Given the description of an element on the screen output the (x, y) to click on. 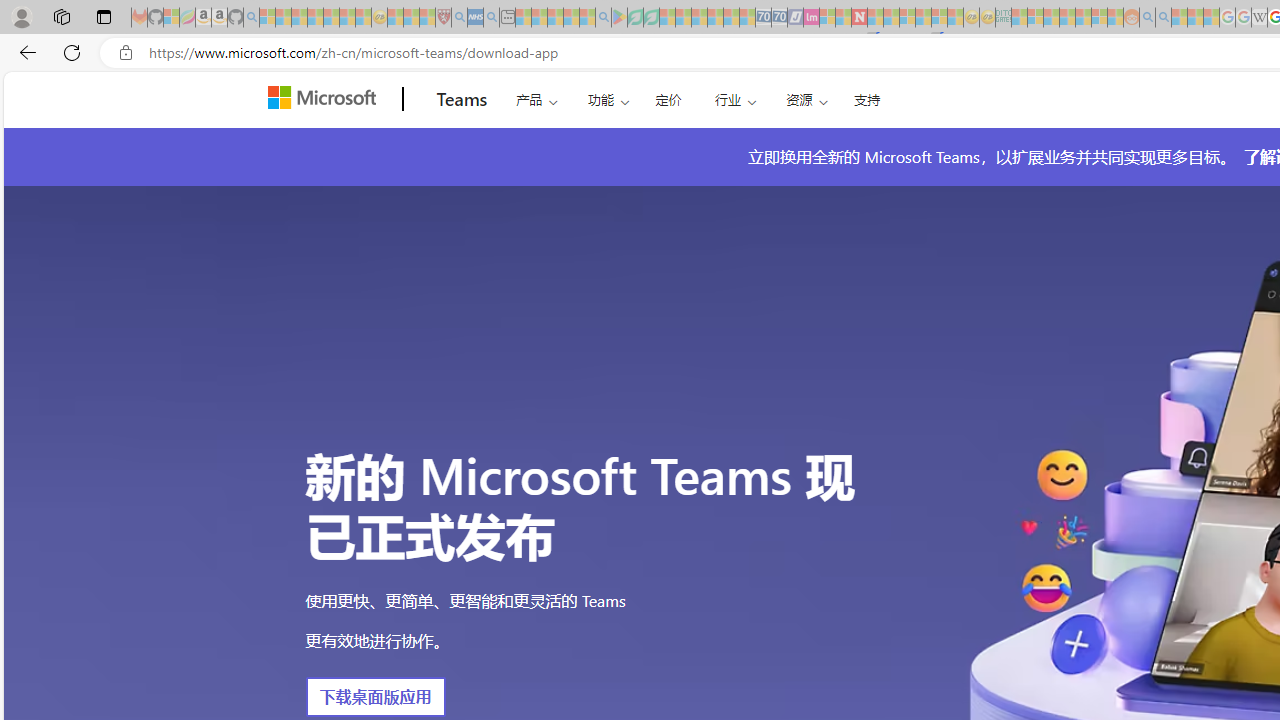
utah sues federal government - Search - Sleeping (491, 17)
Microsoft (326, 99)
Latest Politics News & Archive | Newsweek.com - Sleeping (859, 17)
